Given the description of an element on the screen output the (x, y) to click on. 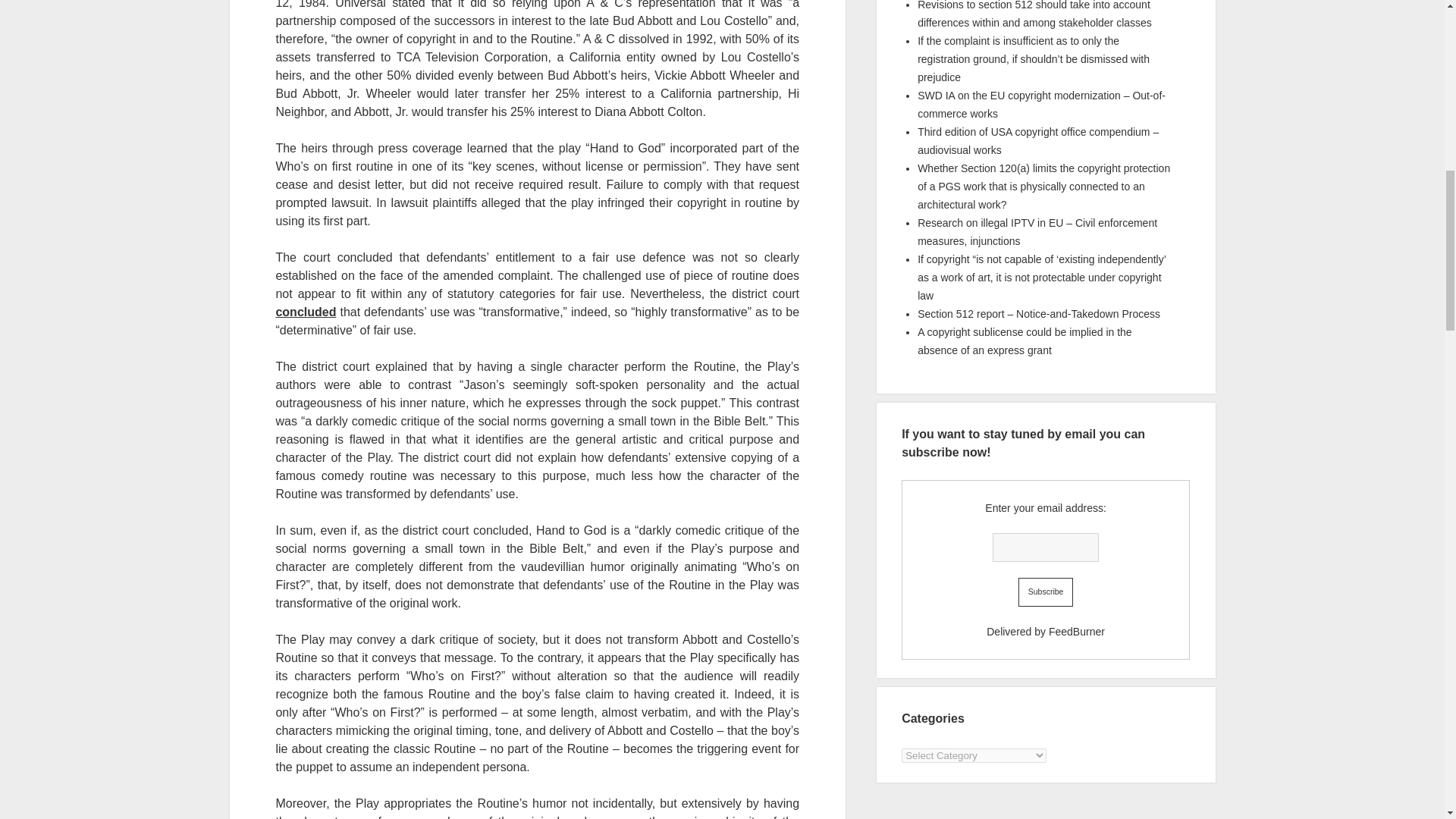
Subscribe (1045, 592)
concluded (305, 311)
